Given the description of an element on the screen output the (x, y) to click on. 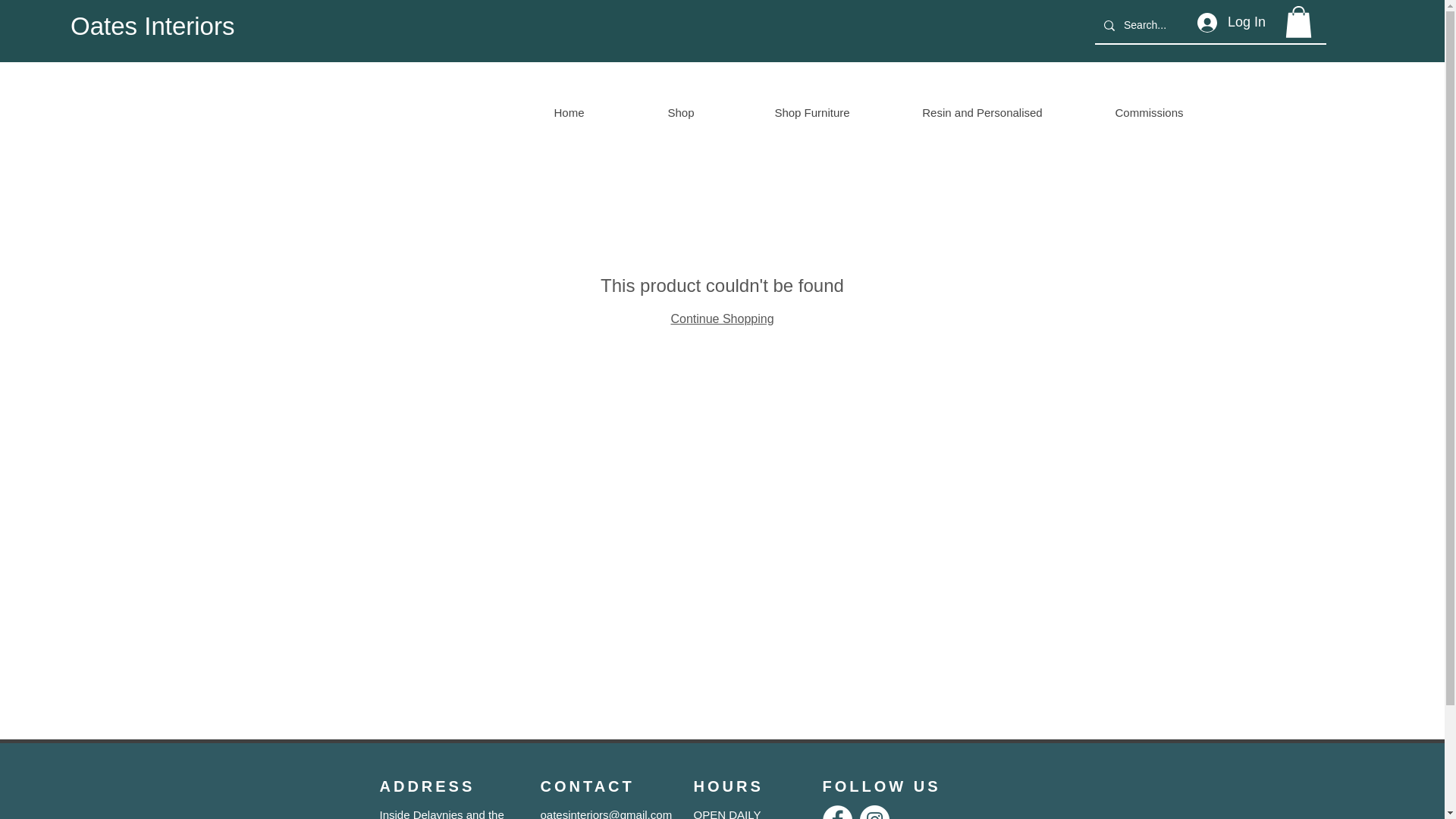
Shop Furniture (811, 112)
Log In (1231, 22)
Home (569, 112)
Continue Shopping (721, 318)
Resin and Personalised (981, 112)
Shop (680, 112)
Commissions (1148, 112)
